Given the description of an element on the screen output the (x, y) to click on. 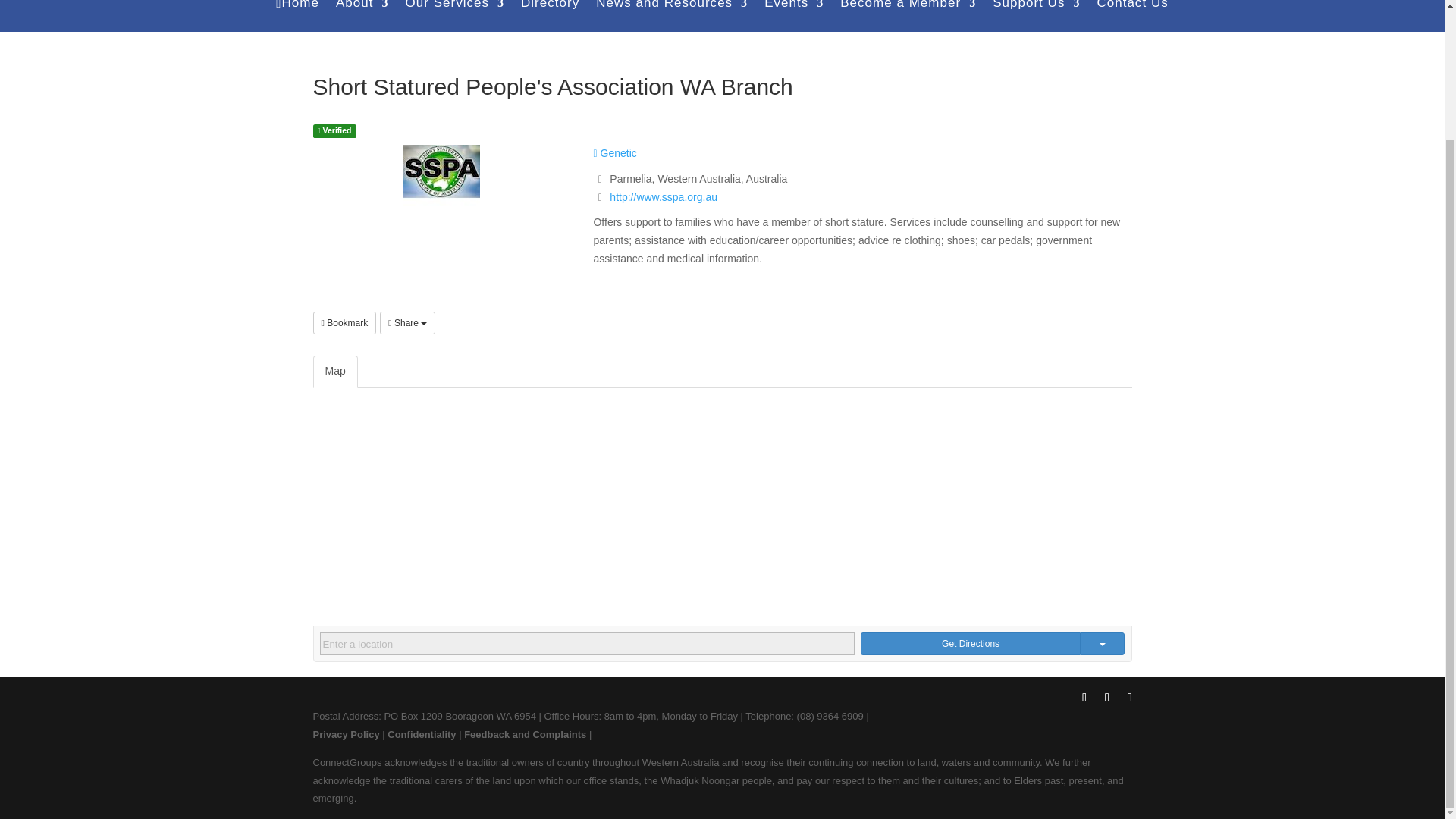
News and Resources (671, 15)
Support Us (1036, 15)
About (362, 15)
Directory (550, 15)
Bookmark this Listing (344, 323)
Events (794, 15)
Become a Member (907, 15)
Our Services (453, 15)
This is an owner verified listing. (334, 130)
Home (297, 15)
